Given the description of an element on the screen output the (x, y) to click on. 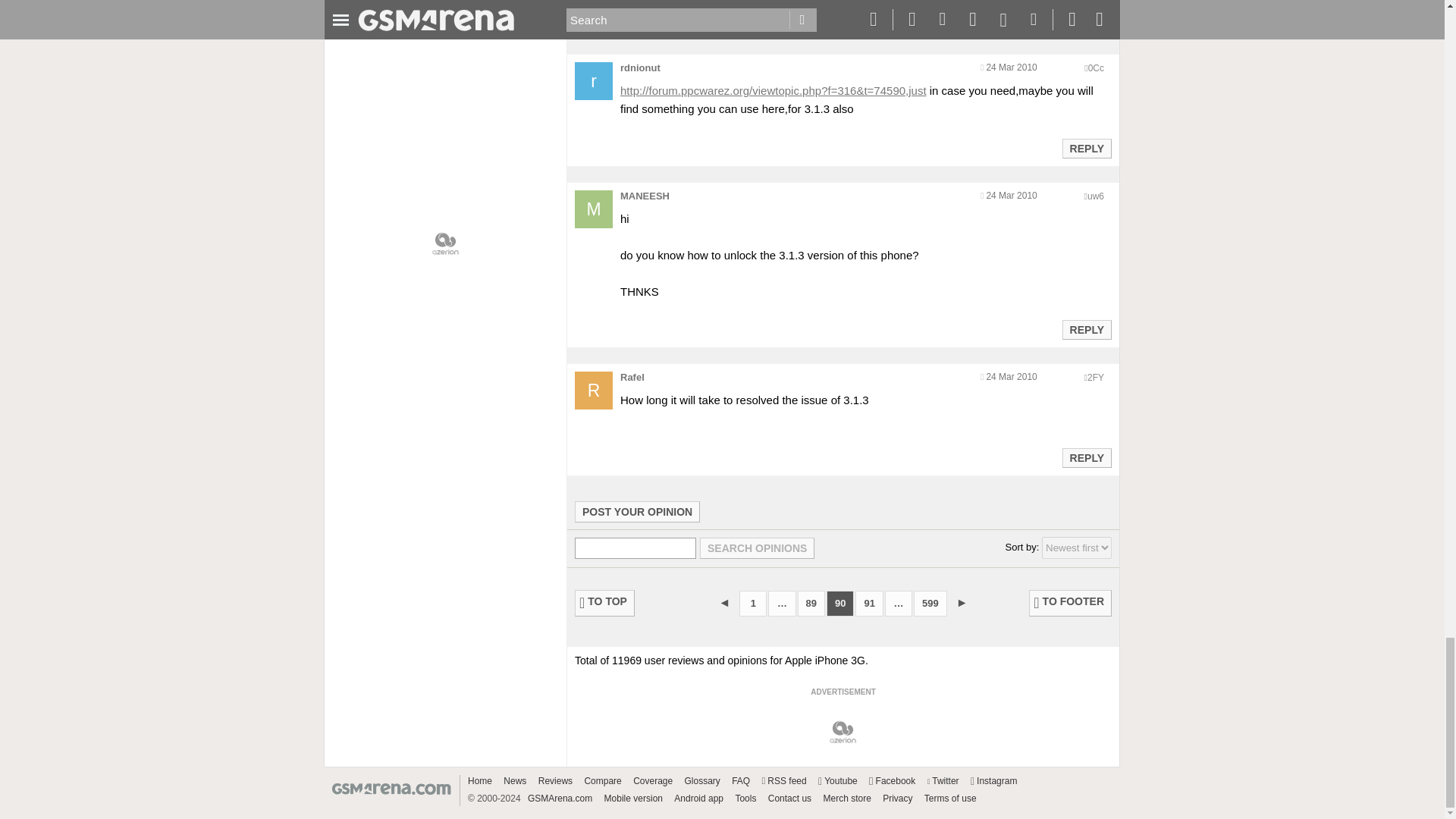
TO TOP (604, 602)
Search opinions (756, 547)
